Given the description of an element on the screen output the (x, y) to click on. 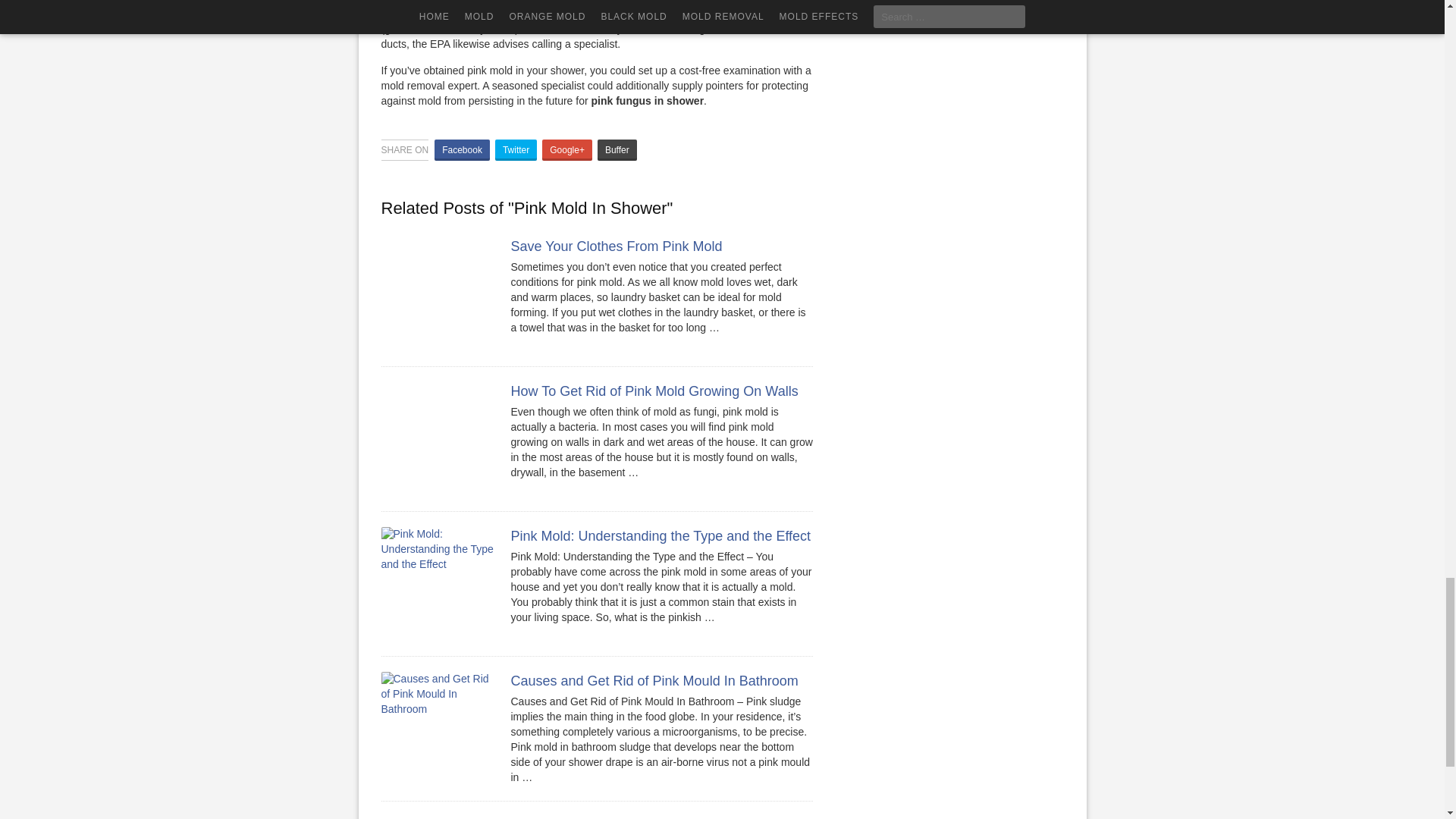
Pink Mold: Understanding the Type and the Effect (660, 535)
Twitter (516, 149)
How To Get Rid of Pink Mold Growing On Walls (654, 391)
Buffer (616, 149)
Save Your Clothes From Pink Mold (616, 246)
Facebook (461, 149)
Causes and Get Rid of Pink Mould In Bathroom (654, 680)
